Given the description of an element on the screen output the (x, y) to click on. 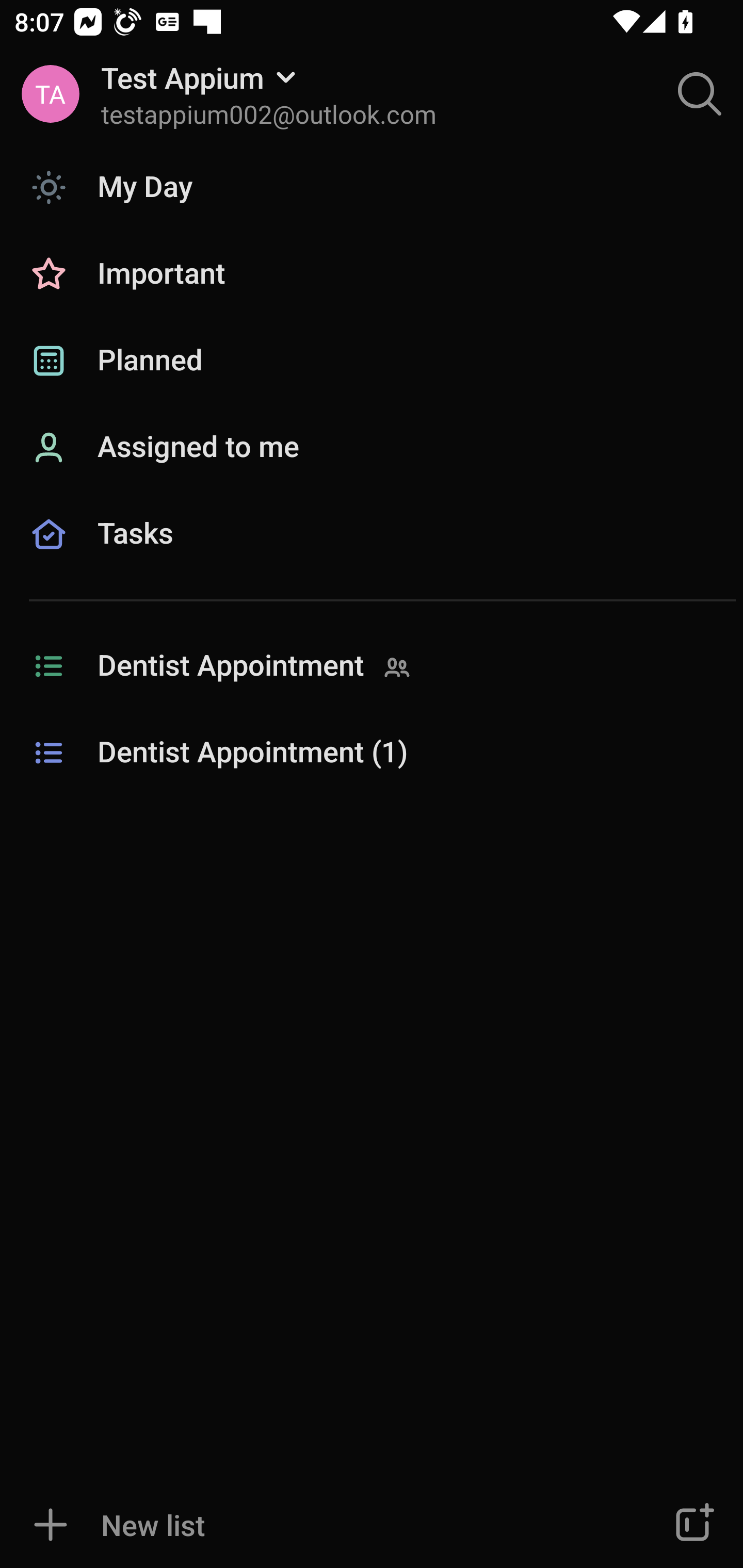
Enter search (699, 93)
My Day, 0 tasks My Day (371, 187)
Important, 0 tasks Important (371, 274)
Planned, 0 tasks Planned (371, 361)
Assigned to me, 0 tasks Assigned to me (371, 447)
Tasks (371, 556)
Dentist Appointment (1) (371, 753)
New list (312, 1524)
Create group (692, 1524)
